Given the description of an element on the screen output the (x, y) to click on. 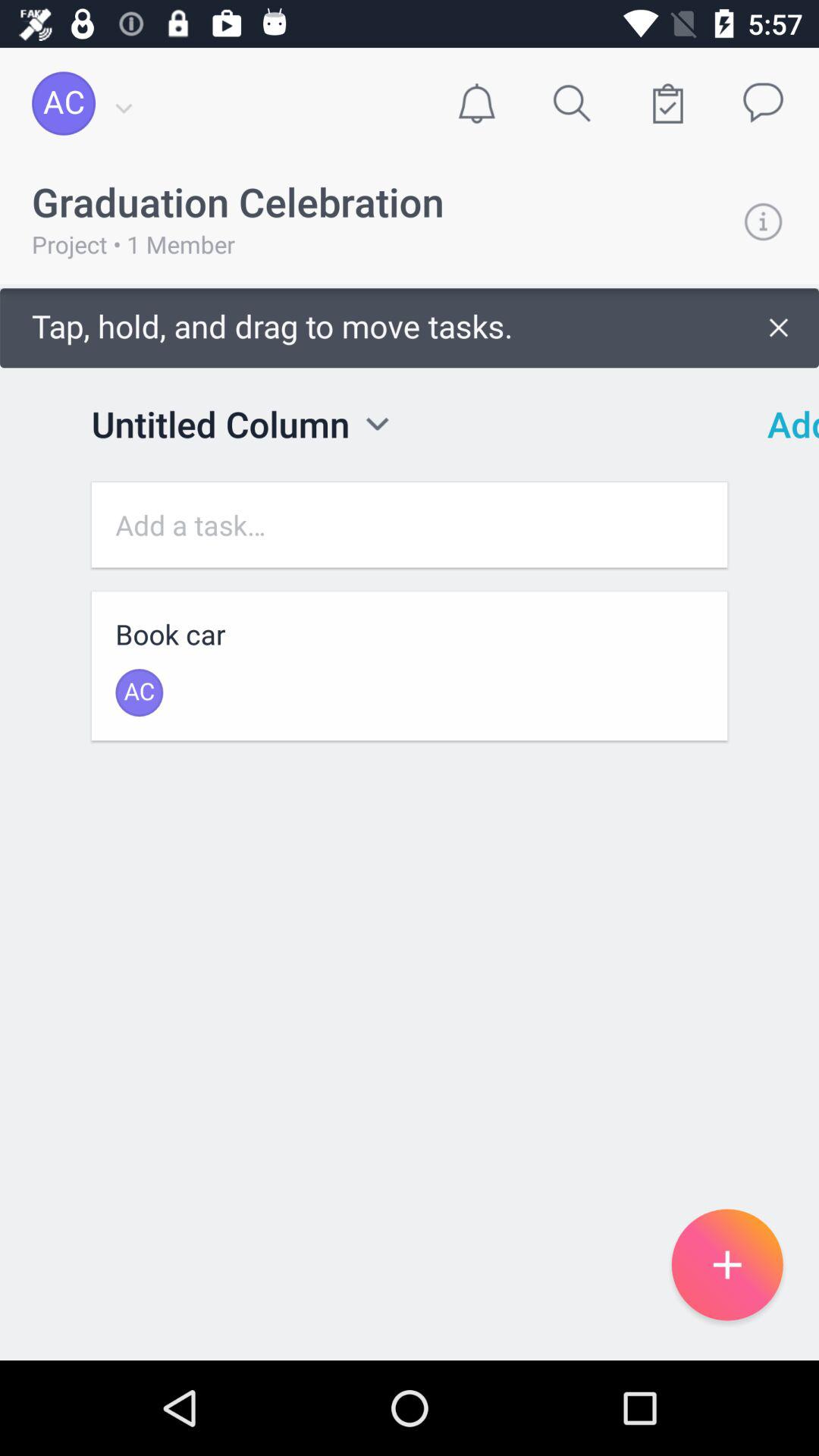
tap icon next to graduation celebration (763, 221)
